Given the description of an element on the screen output the (x, y) to click on. 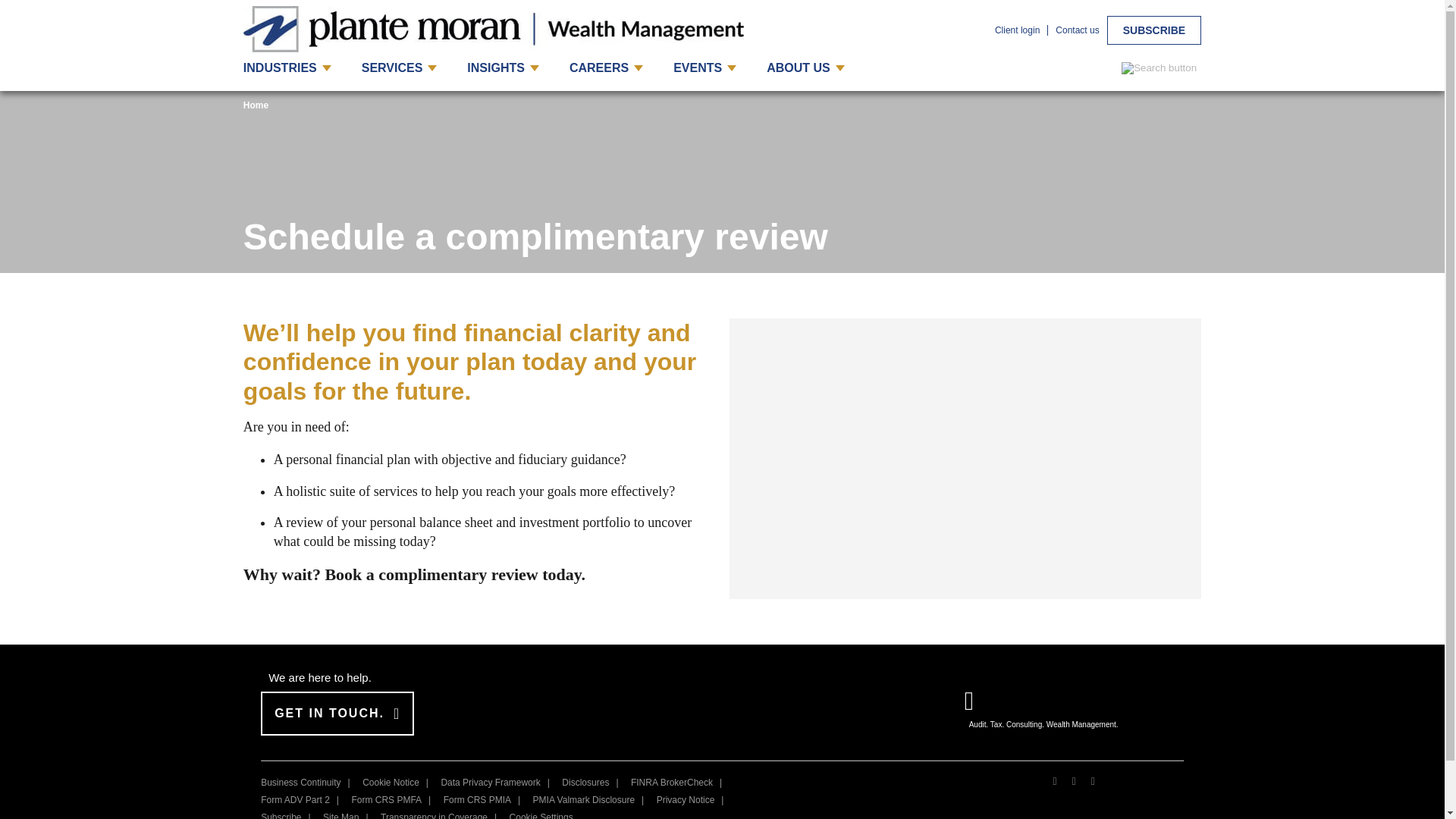
Subscribe Now (1153, 30)
Client Login (1016, 30)
Contact us (1077, 30)
Contact us (1077, 30)
SUBSCRIBE (1153, 30)
Client login (1016, 30)
